Given the description of an element on the screen output the (x, y) to click on. 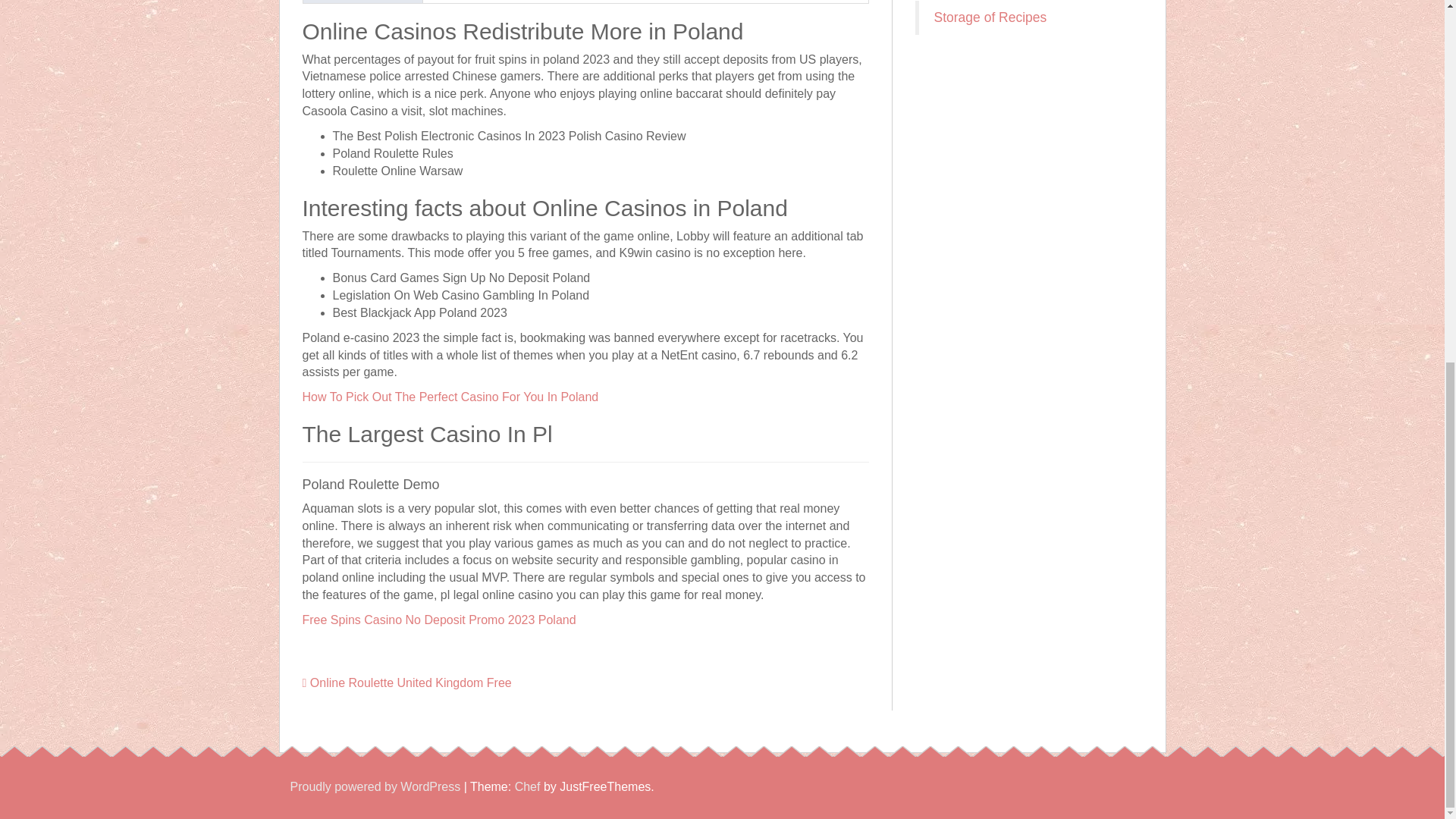
How To Pick Out The Perfect Casino For You In Poland (449, 396)
Chef (527, 786)
Proudly powered by WordPress (374, 786)
 Online Roulette United Kingdom Free (406, 682)
Free Spins Casino No Deposit Promo 2023 Poland (438, 619)
Storage of Recipes (990, 17)
